Given the description of an element on the screen output the (x, y) to click on. 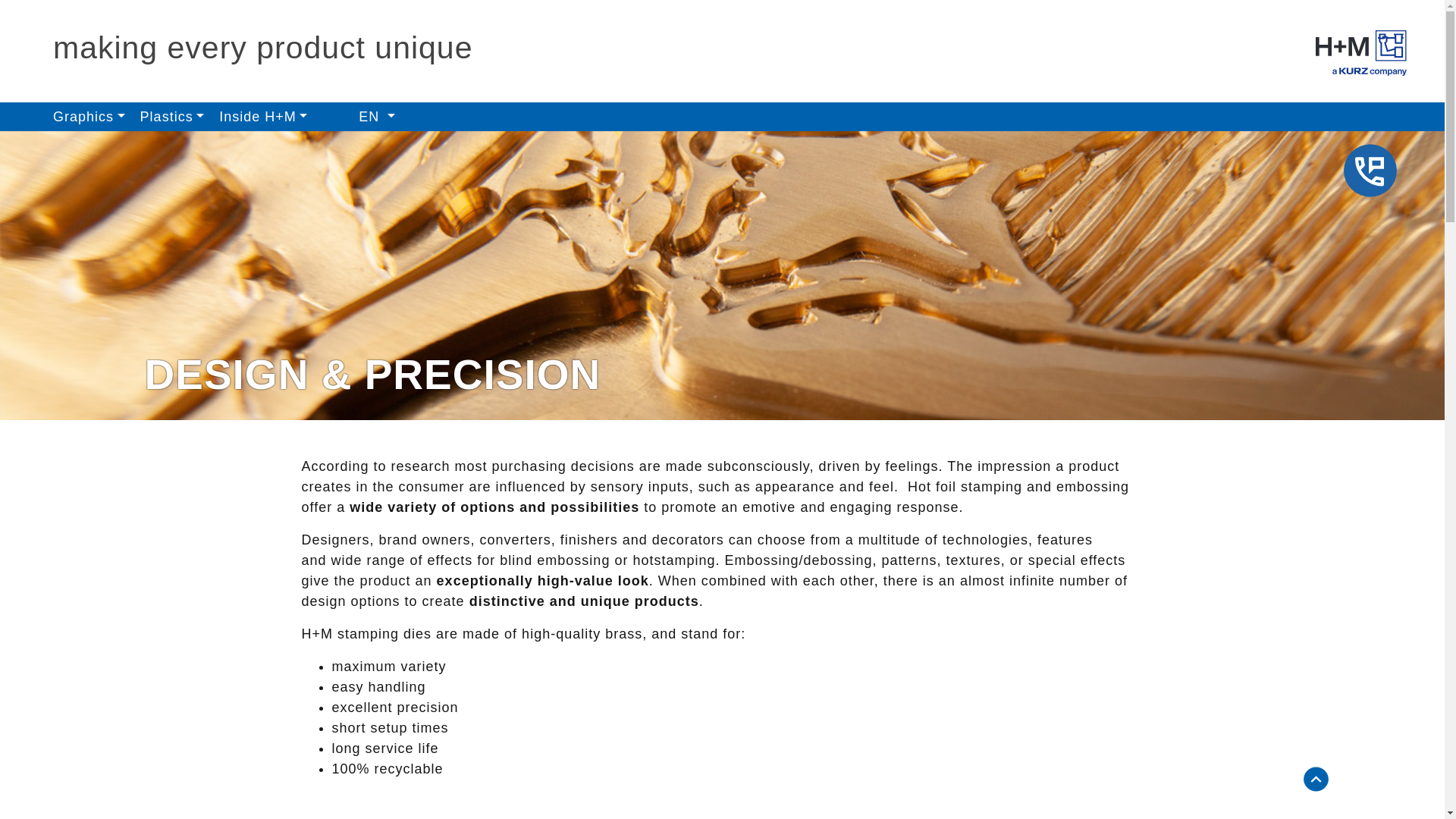
Graphics (88, 116)
EN (376, 116)
Plastics (172, 116)
making every product unique (261, 47)
